Given the description of an element on the screen output the (x, y) to click on. 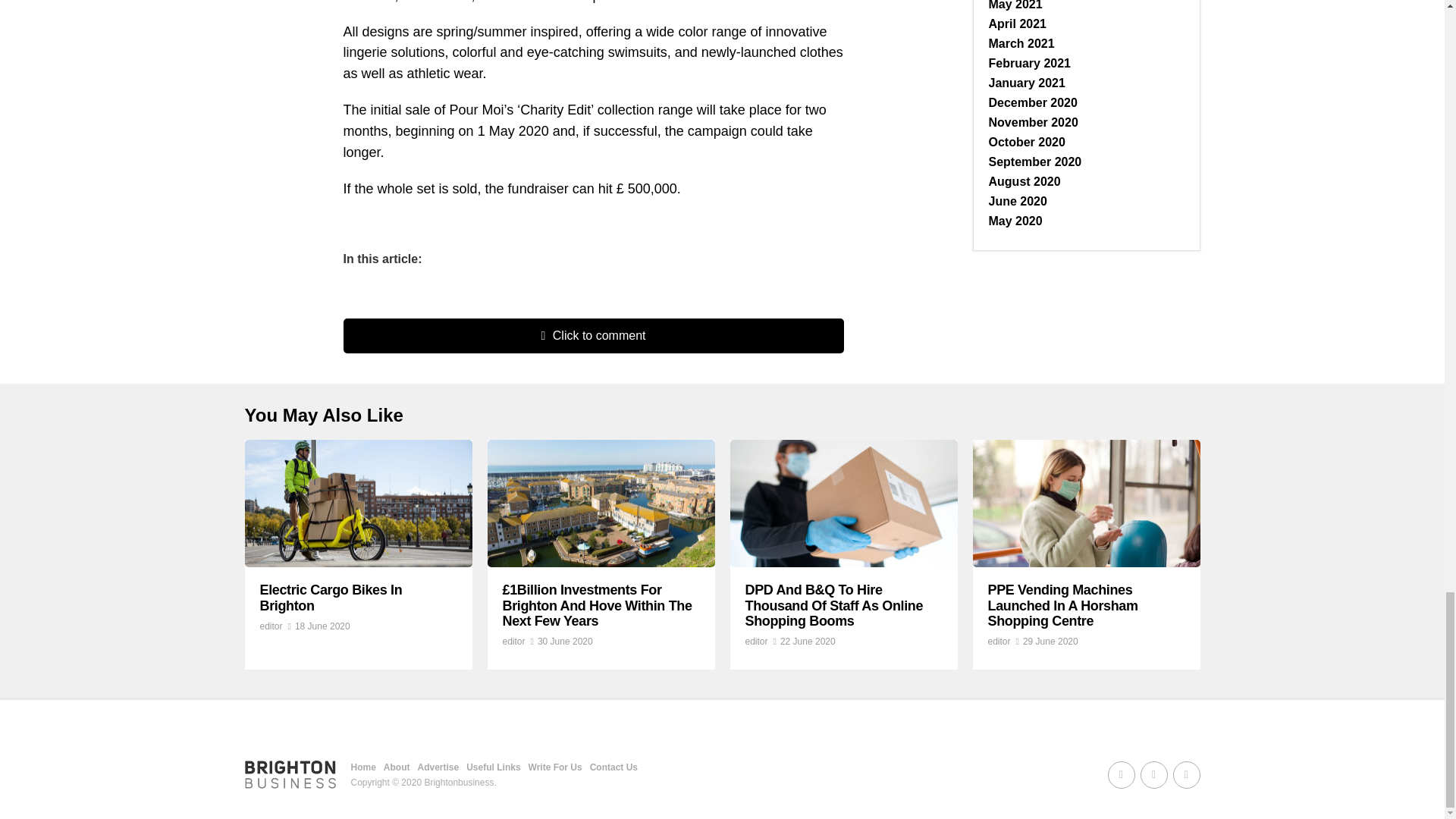
Posts by editor (513, 641)
Posts by editor (270, 625)
Posts by editor (755, 641)
Posts by editor (998, 641)
